Given the description of an element on the screen output the (x, y) to click on. 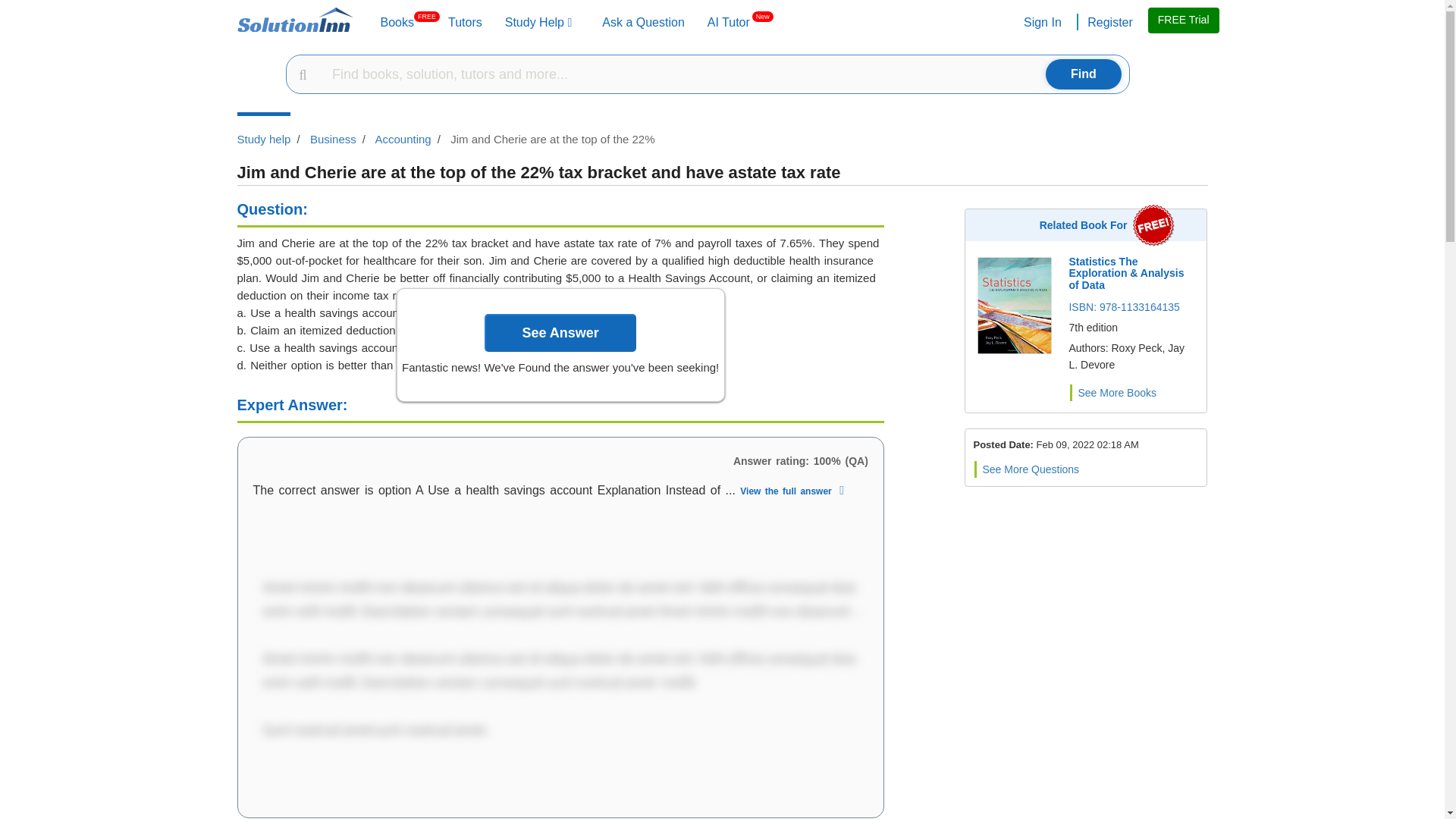
Tutors (465, 24)
Study Help (538, 24)
Study Help (538, 24)
Ask a Question (397, 24)
Register (643, 24)
Tutors (728, 24)
Sign In (1108, 24)
Sign In (465, 24)
Ask a Question (1040, 24)
Posted Date (397, 24)
